Given the description of an element on the screen output the (x, y) to click on. 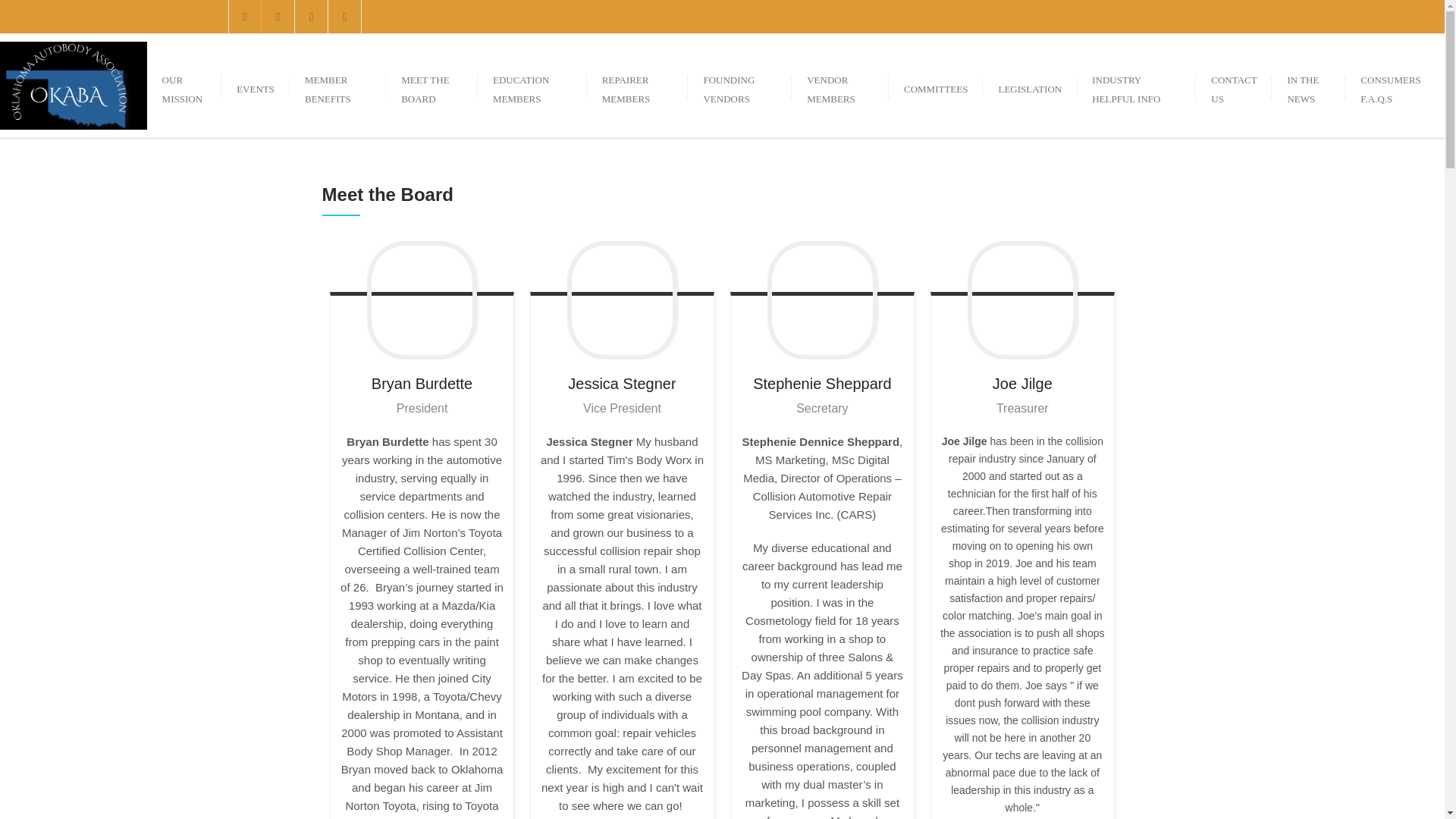
MEMBER BENEFITS (337, 85)
IN THE NEWS (1308, 85)
LEGISLATION (1029, 84)
INDUSTRY HELPFUL INFO (1136, 85)
MEET THE BOARD (431, 85)
EVENTS (255, 84)
CONTACT US (1233, 85)
EDUCATION MEMBERS (531, 85)
REPAIRER MEMBERS (637, 85)
COMMITTEES (936, 84)
